Given the description of an element on the screen output the (x, y) to click on. 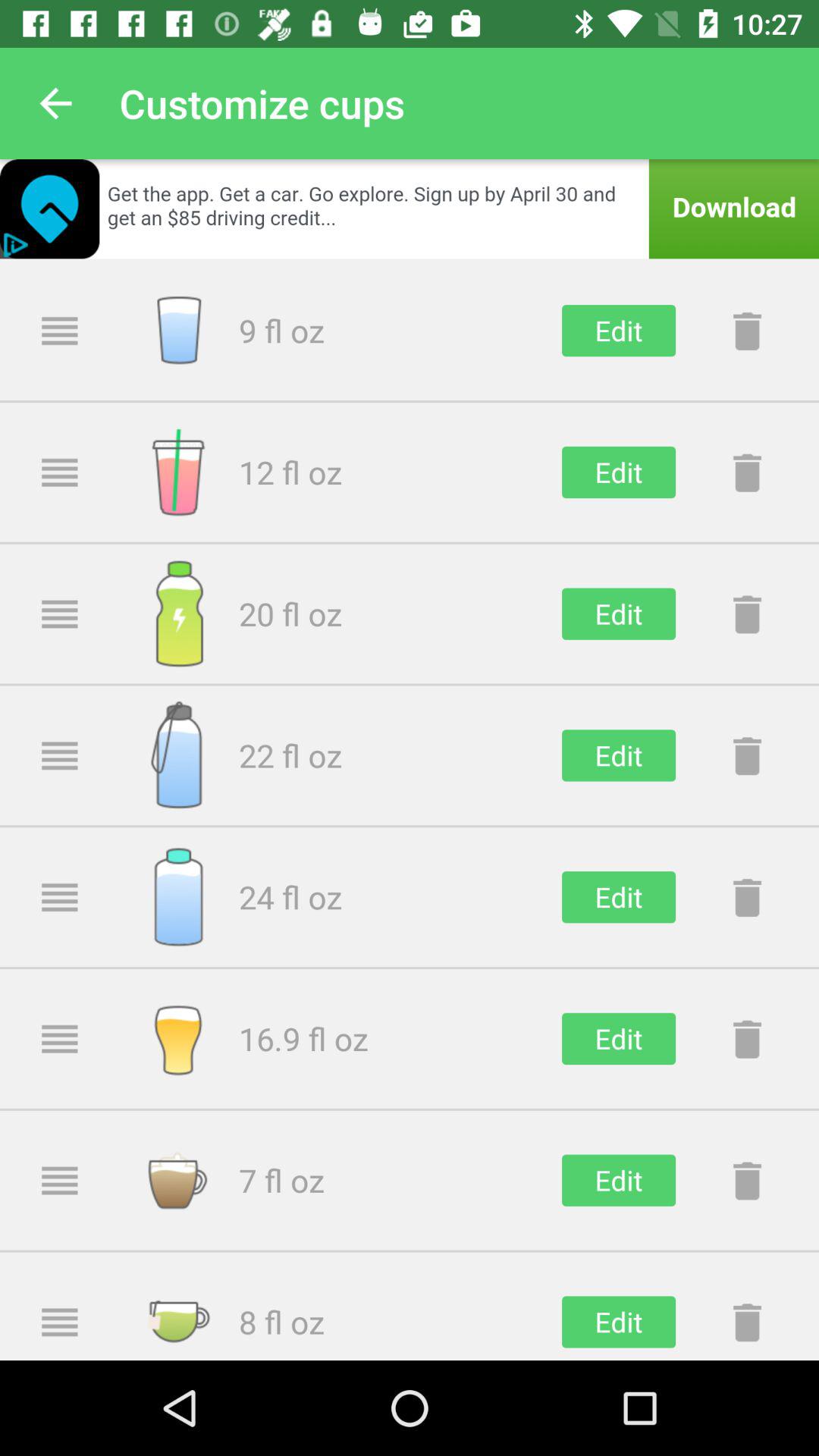
click advertisement (409, 208)
